Given the description of an element on the screen output the (x, y) to click on. 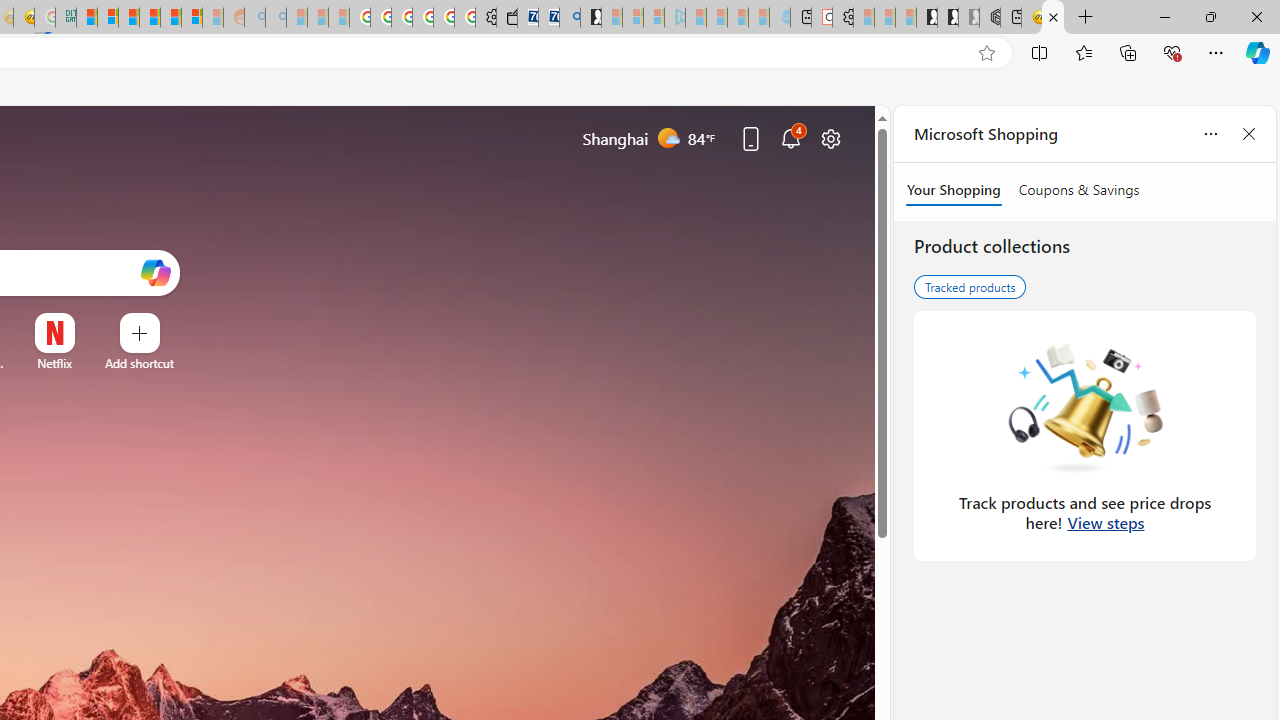
Expert Portfolios (149, 17)
Netflix (54, 363)
